Given the description of an element on the screen output the (x, y) to click on. 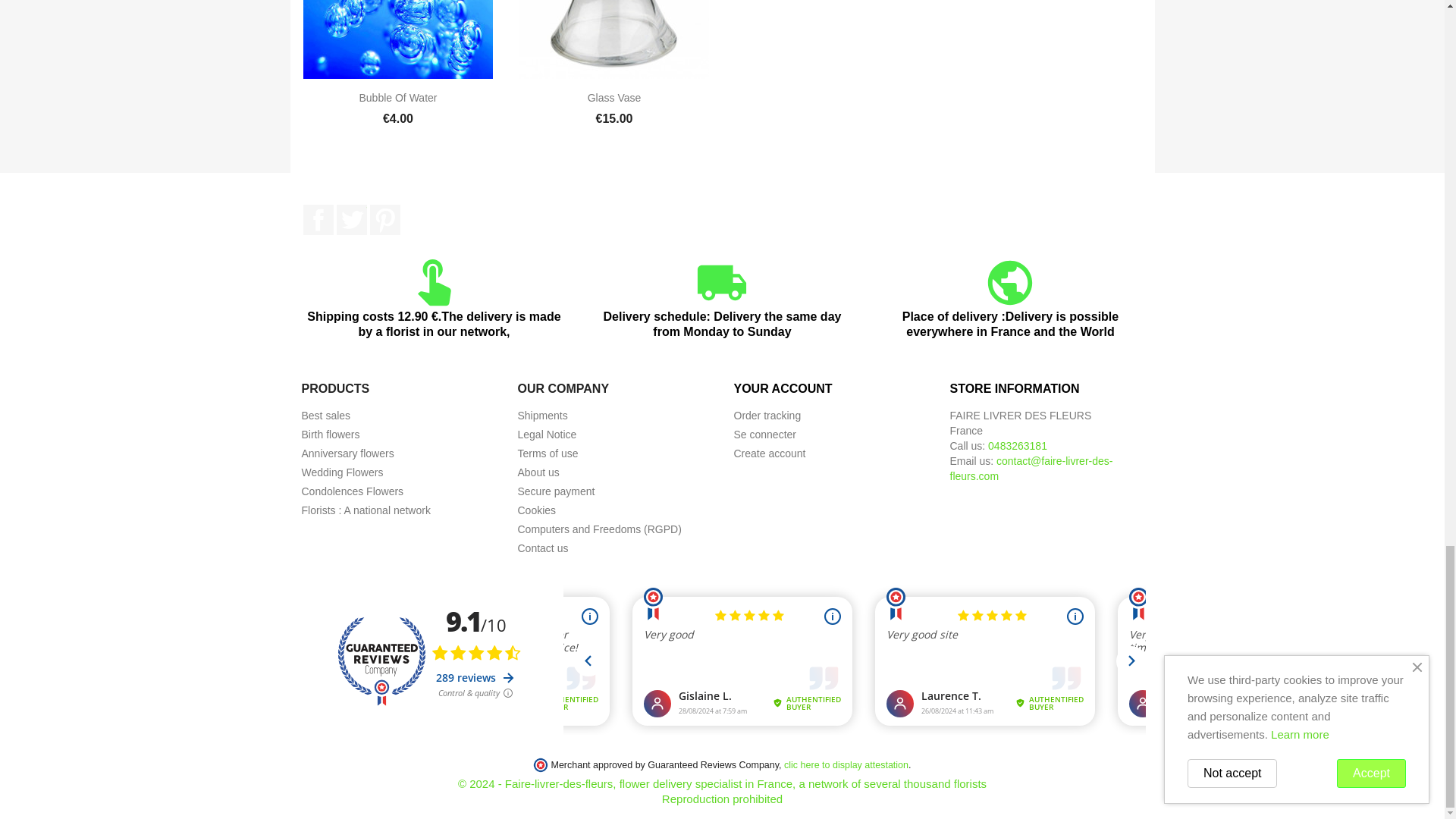
Shipments (541, 415)
Legal Notice (546, 434)
Terms of use (547, 453)
Our best sales (325, 415)
